Given the description of an element on the screen output the (x, y) to click on. 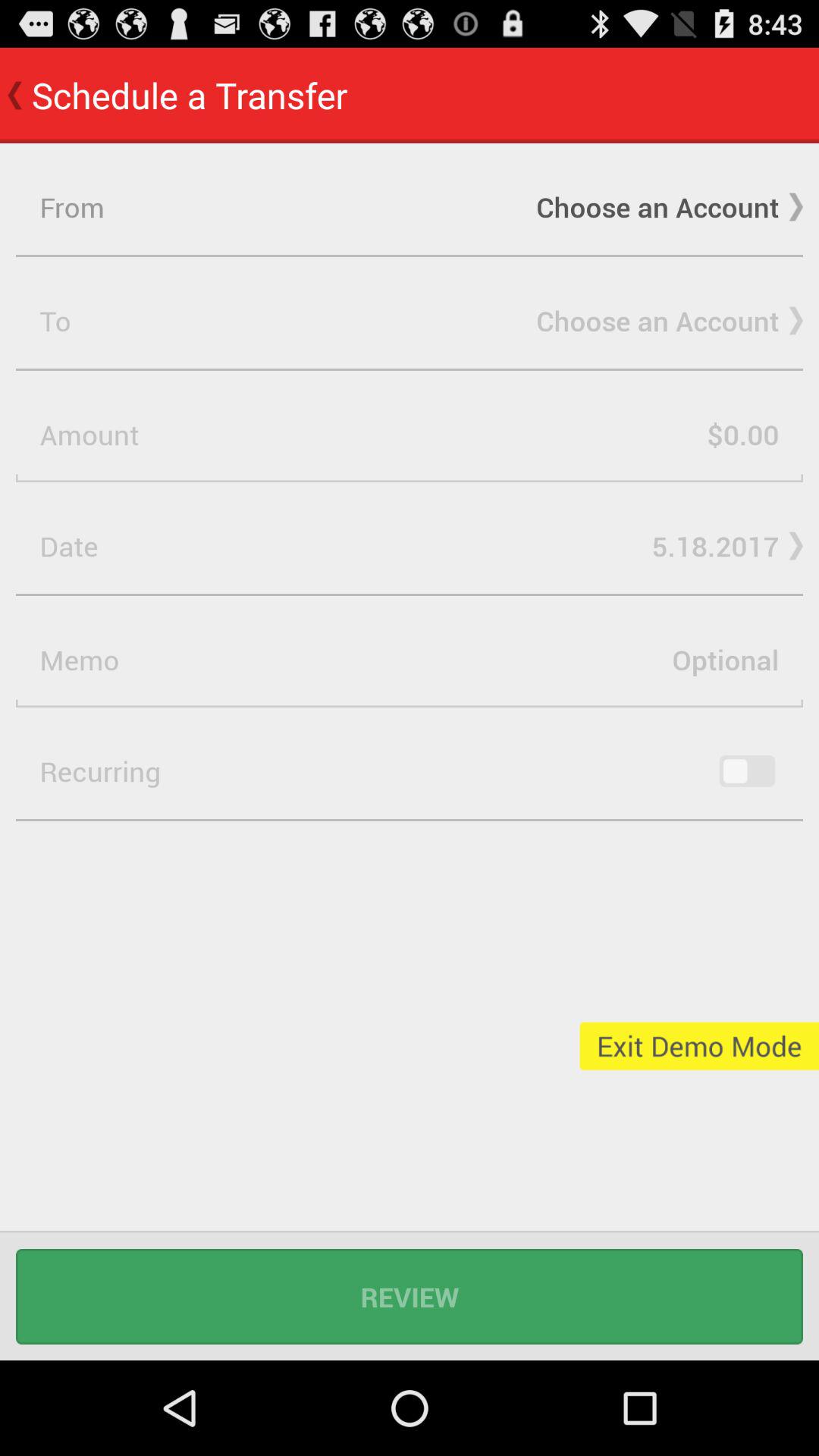
on button (747, 771)
